Given the description of an element on the screen output the (x, y) to click on. 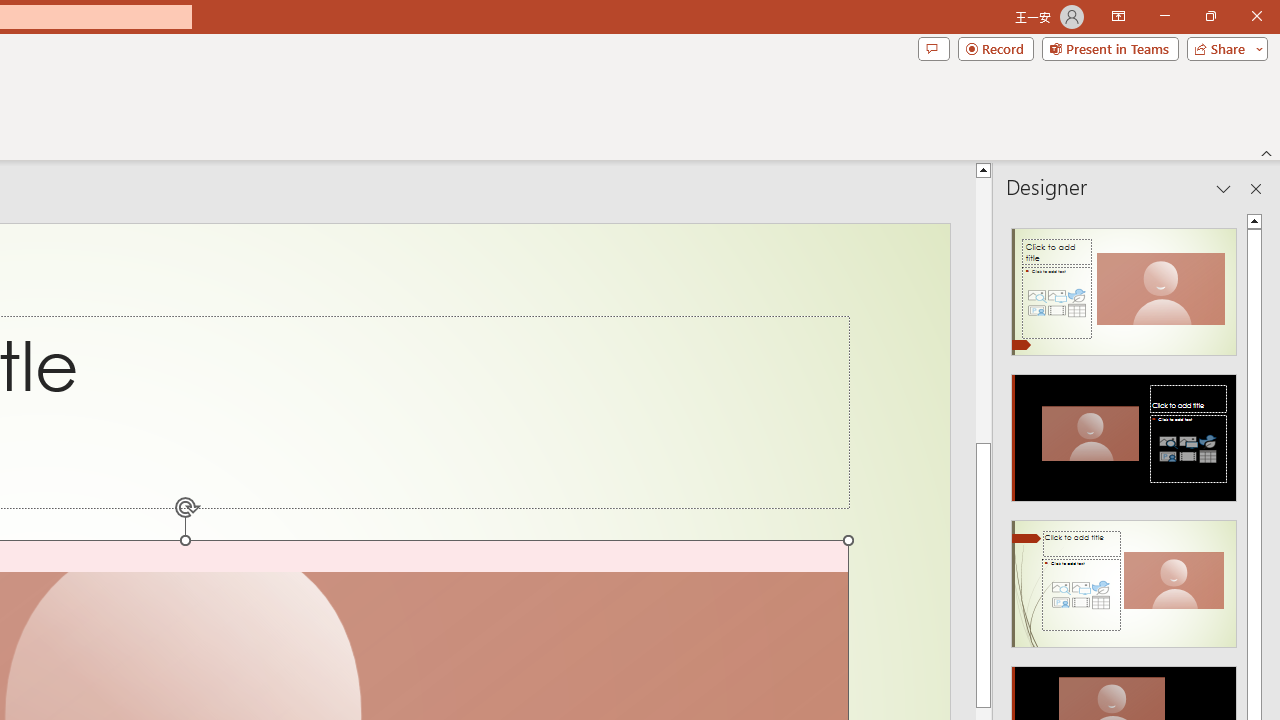
Recommended Design: Design Idea (1124, 286)
Design Idea (1124, 577)
